Given the description of an element on the screen output the (x, y) to click on. 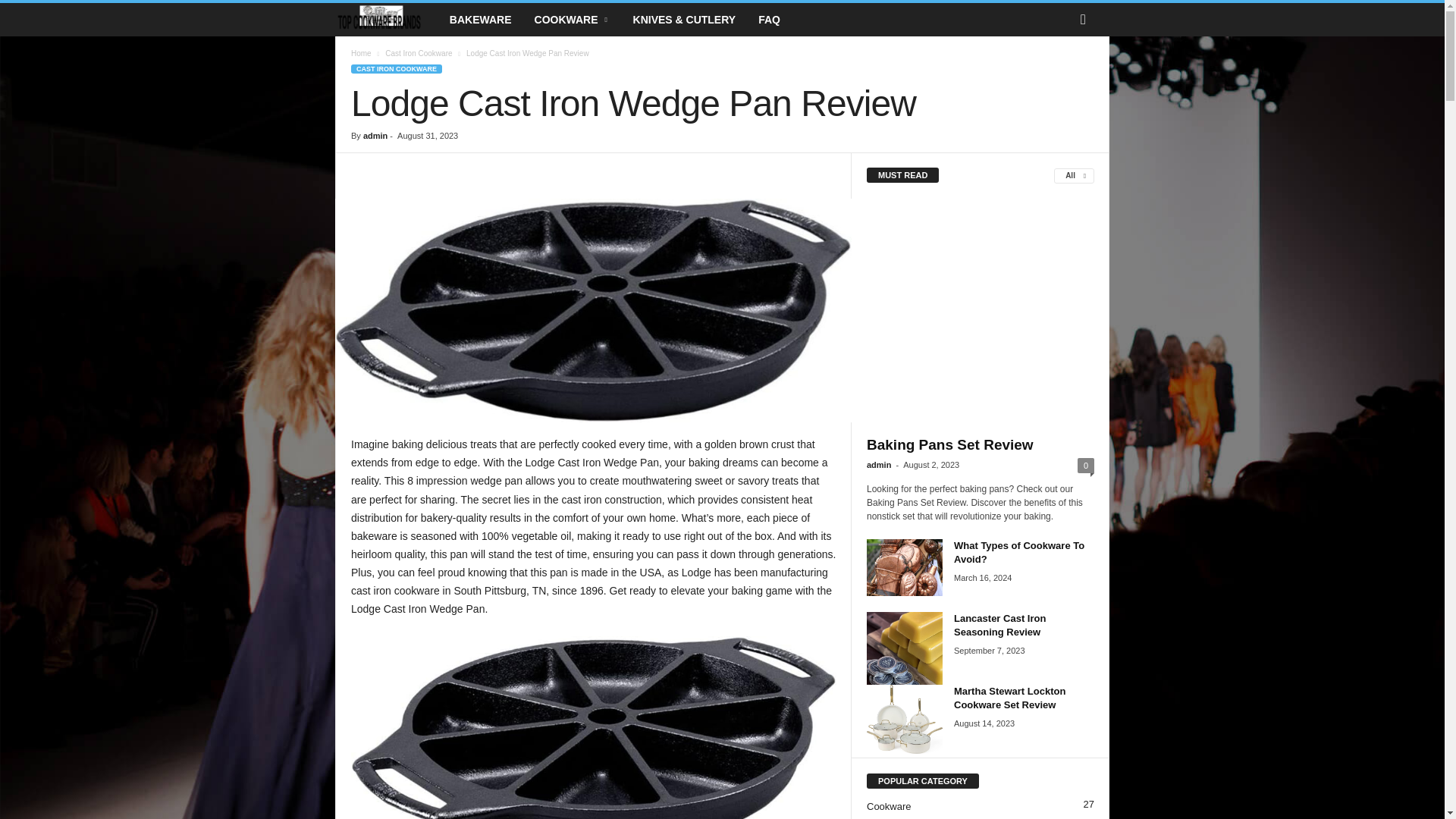
COOKWARE (571, 19)
CAST IRON COOKWARE (396, 68)
View all posts in Cast Iron Cookware (418, 53)
admin (374, 135)
lodge-cast-iron-wedge-pan-review (592, 310)
Top Cookware Brands (386, 19)
Home (360, 53)
Cast Iron Cookware (418, 53)
FAQ (769, 19)
BAKEWARE (480, 19)
